Given the description of an element on the screen output the (x, y) to click on. 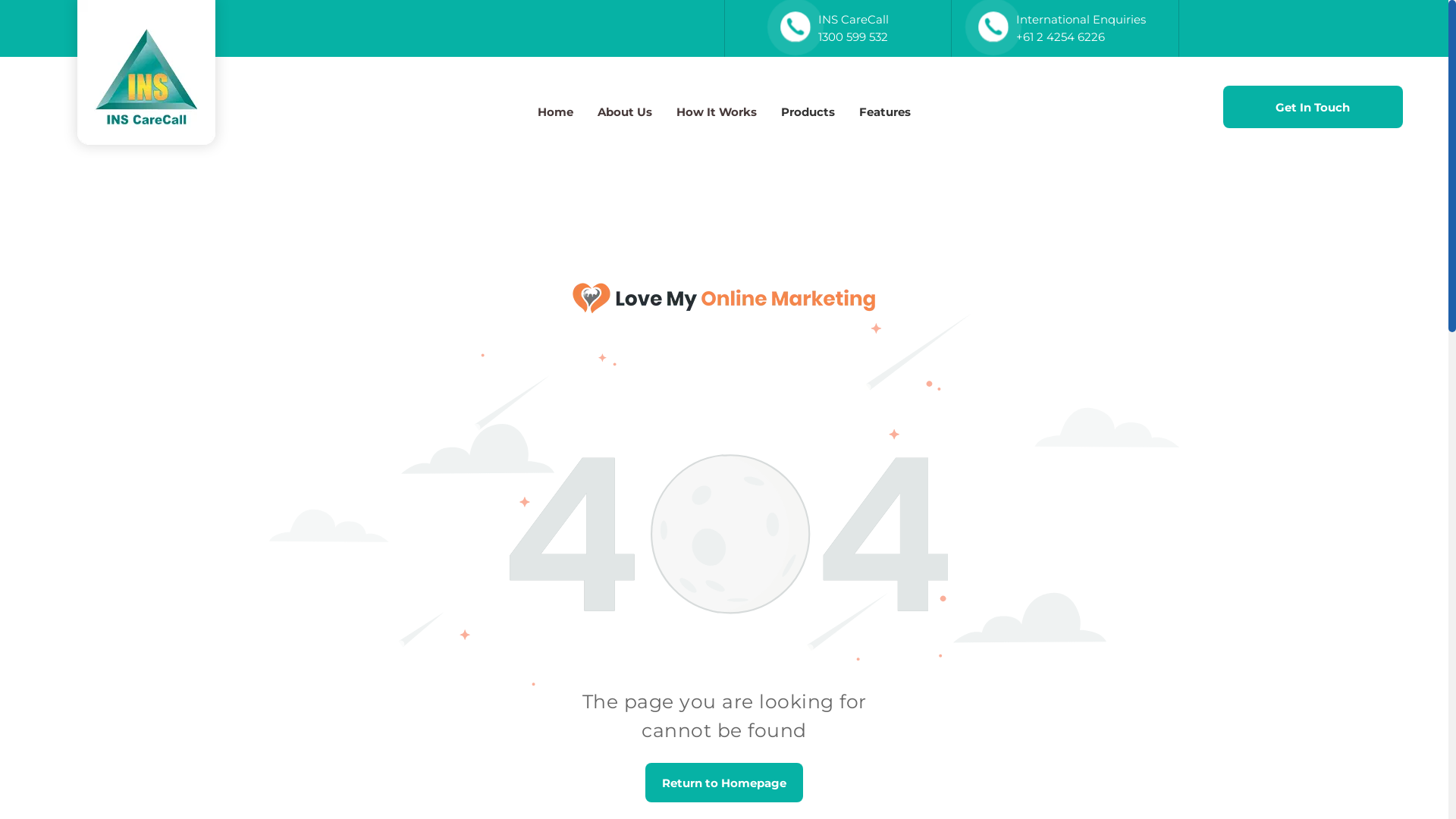
Return to Homepage Element type: text (724, 782)
About Us Element type: text (624, 111)
How It Works Element type: text (716, 111)
1300 599 532 Element type: text (853, 35)
+61 2 4254 6226 Element type: text (1060, 35)
Get In Touch Element type: text (1312, 106)
Home Element type: text (555, 111)
